Given the description of an element on the screen output the (x, y) to click on. 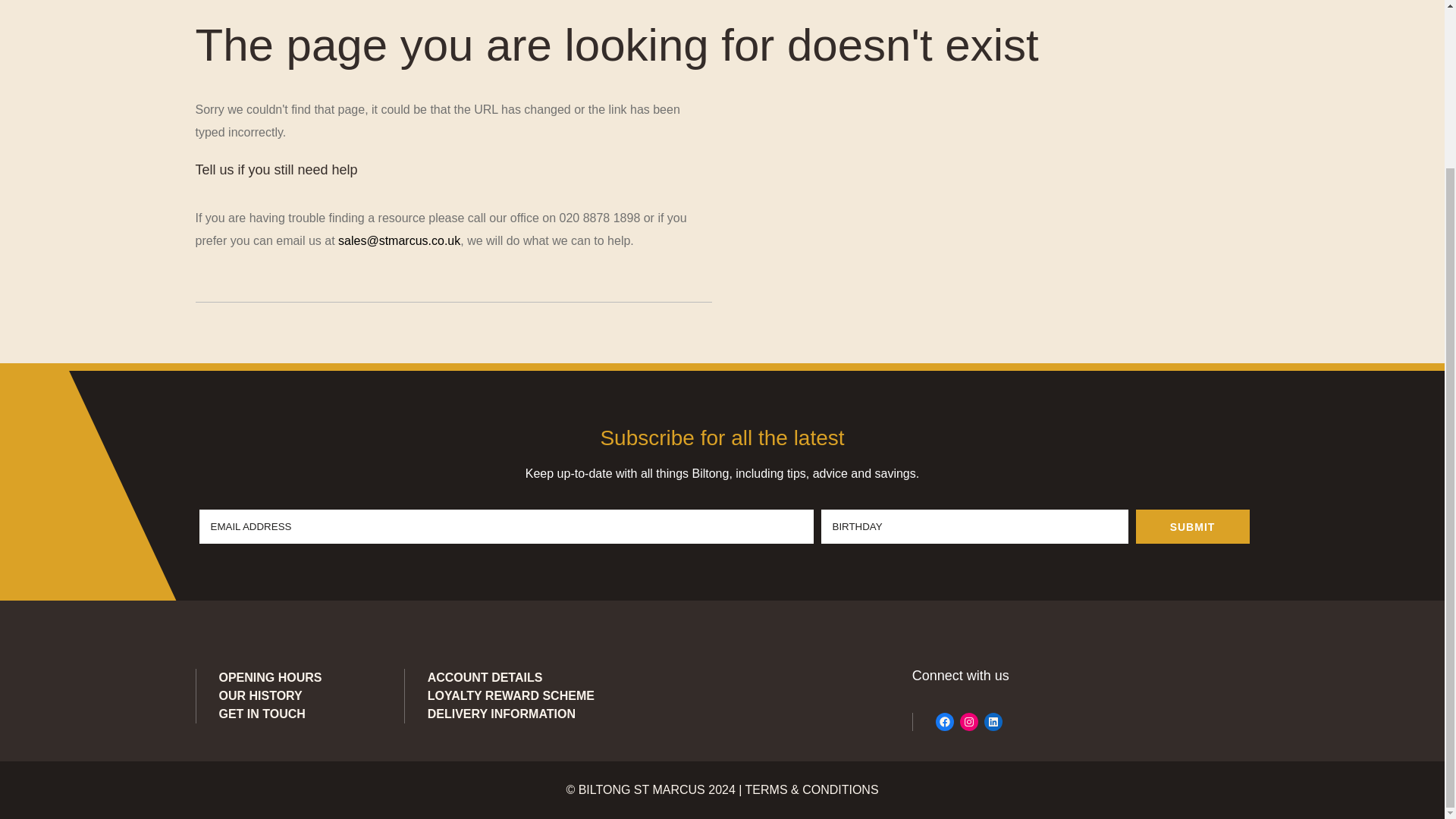
SUBMIT (1192, 526)
ACCOUNT DETAILS (485, 676)
LINKEDIN (993, 721)
LOYALTY REWARD SCHEME (511, 695)
GET IN TOUCH (261, 713)
DELIVERY INFORMATION (501, 713)
OPENING HOURS (269, 676)
INSTAGRAM (968, 721)
FACEBOOK (944, 721)
OUR HISTORY (259, 695)
